Given the description of an element on the screen output the (x, y) to click on. 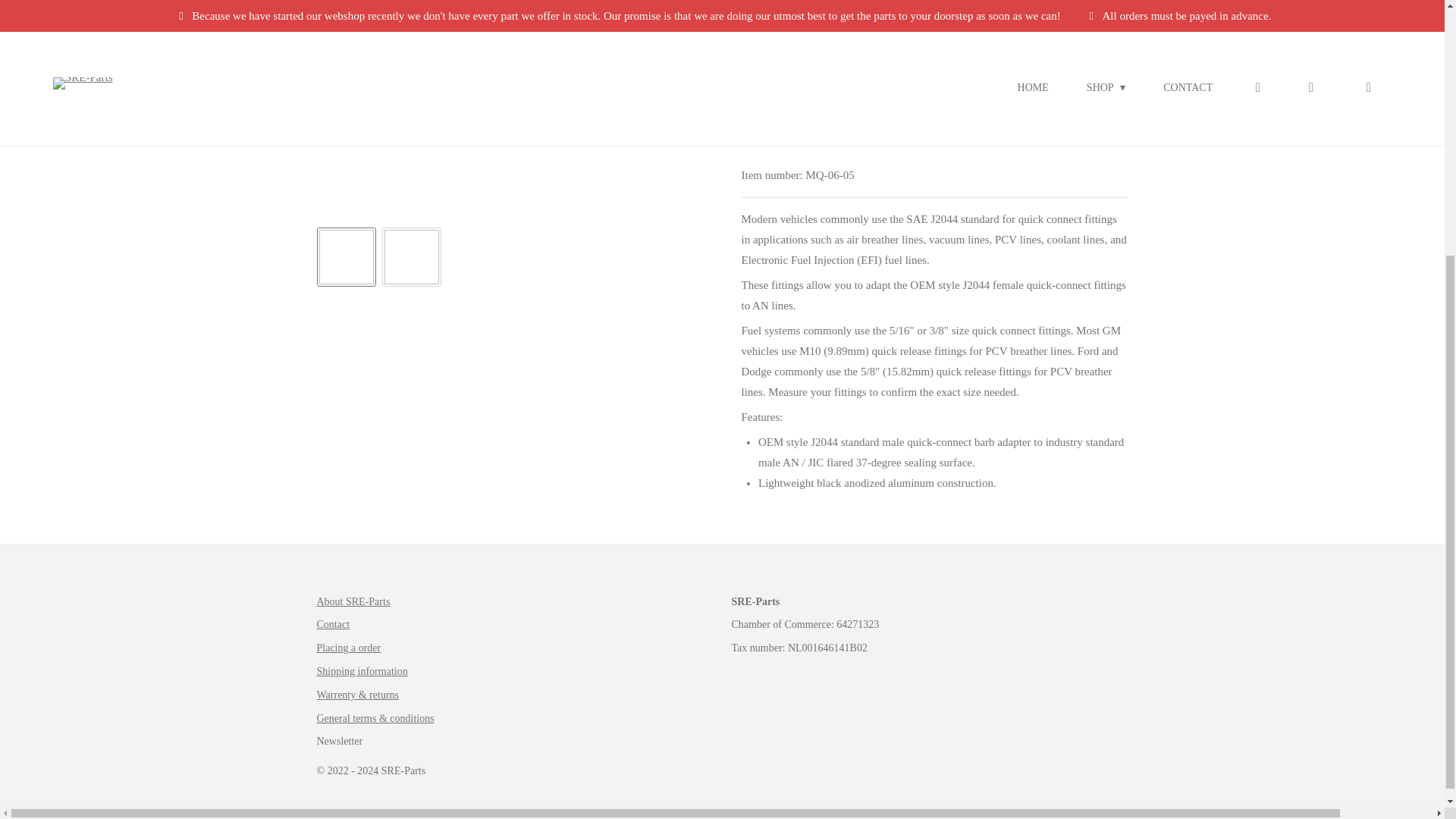
1 (764, 121)
Add to cart (843, 121)
Add to wishlist (927, 121)
